Given the description of an element on the screen output the (x, y) to click on. 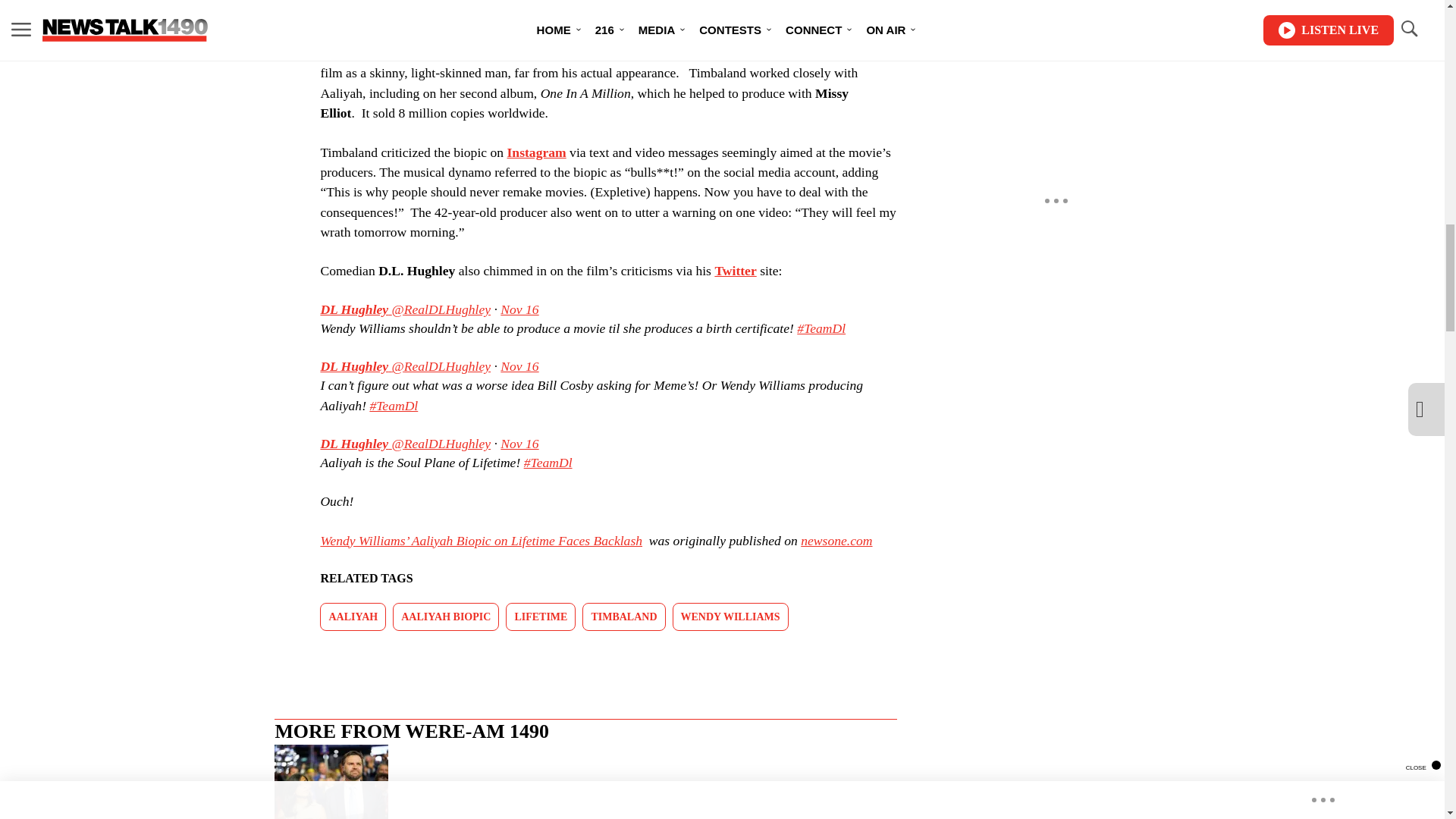
9:59 AM - 16 Nov 2014 (519, 309)
9:57 AM - 16 Nov 2014 (519, 365)
Instagram (536, 151)
Twitter (734, 270)
9:38 AM - 16 Nov 2014 (519, 443)
